Given the description of an element on the screen output the (x, y) to click on. 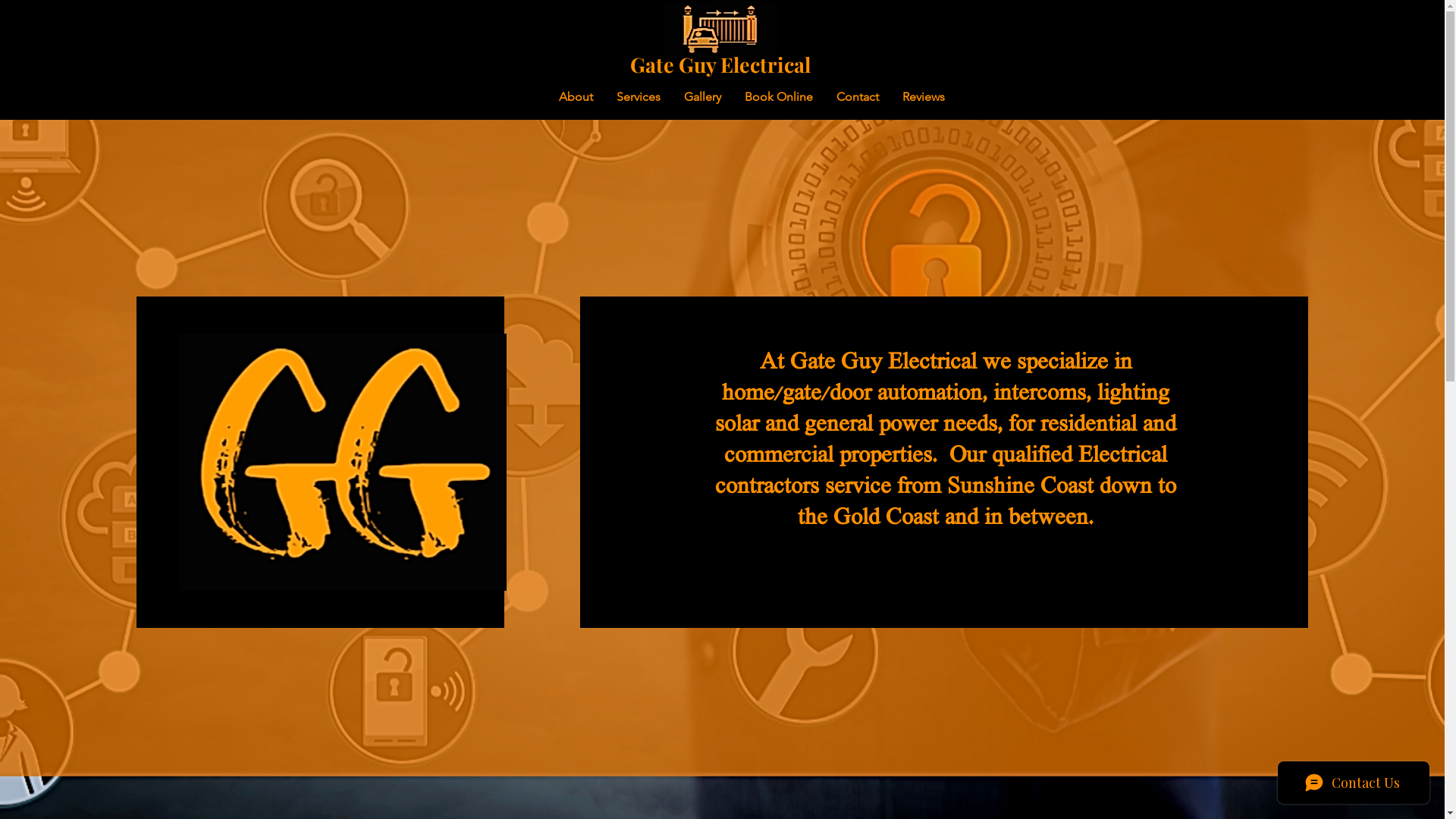
Contact Element type: text (857, 96)
About Element type: text (575, 96)
Reviews Element type: text (923, 96)
Home Element type: text (517, 96)
Book Online Element type: text (778, 96)
Gallery Element type: text (701, 96)
Services Element type: text (637, 96)
Gate Guy Electrical Element type: text (720, 64)
